Given the description of an element on the screen output the (x, y) to click on. 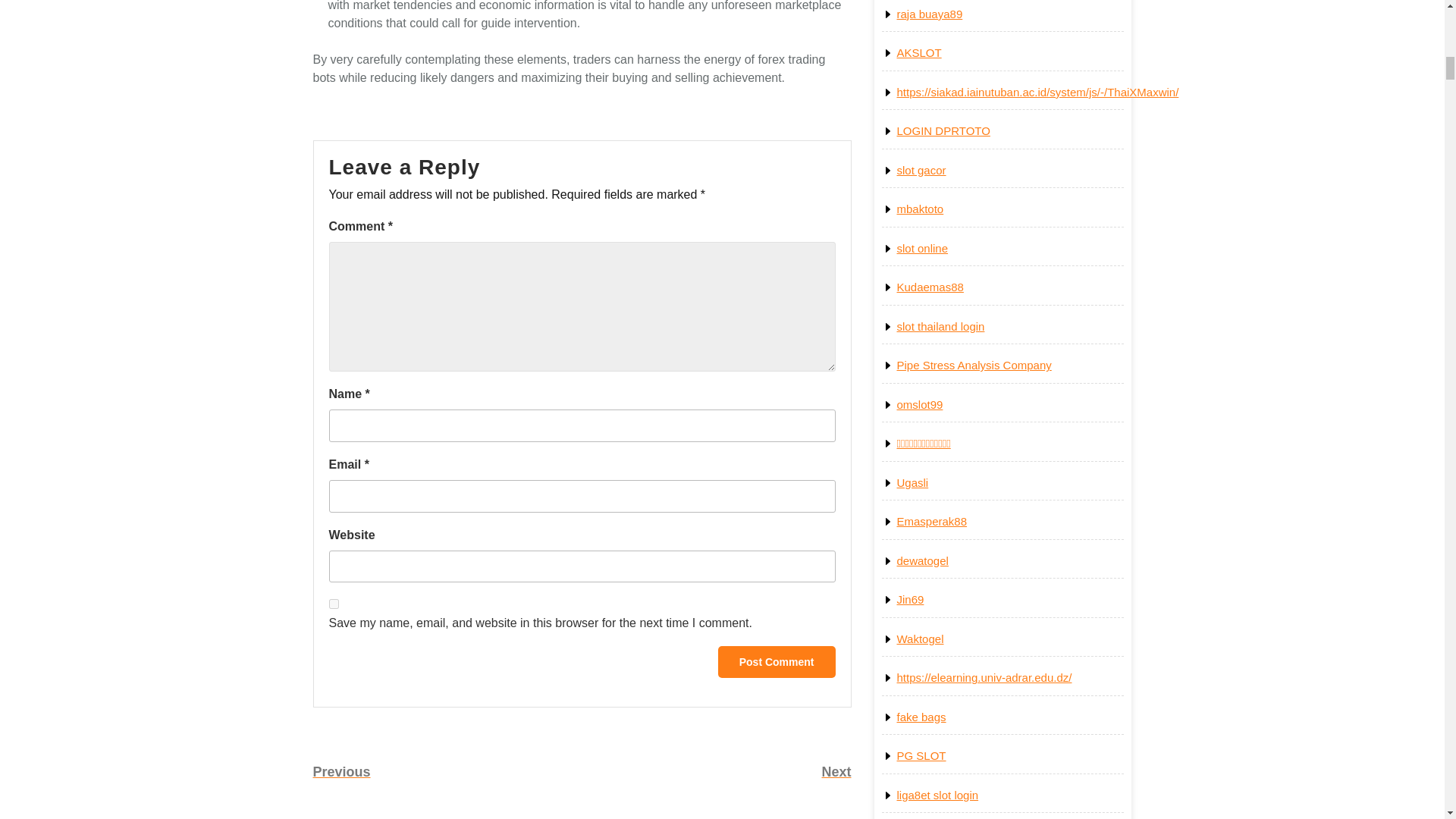
Post Comment (446, 772)
yes (776, 662)
Post Comment (716, 772)
